Given the description of an element on the screen output the (x, y) to click on. 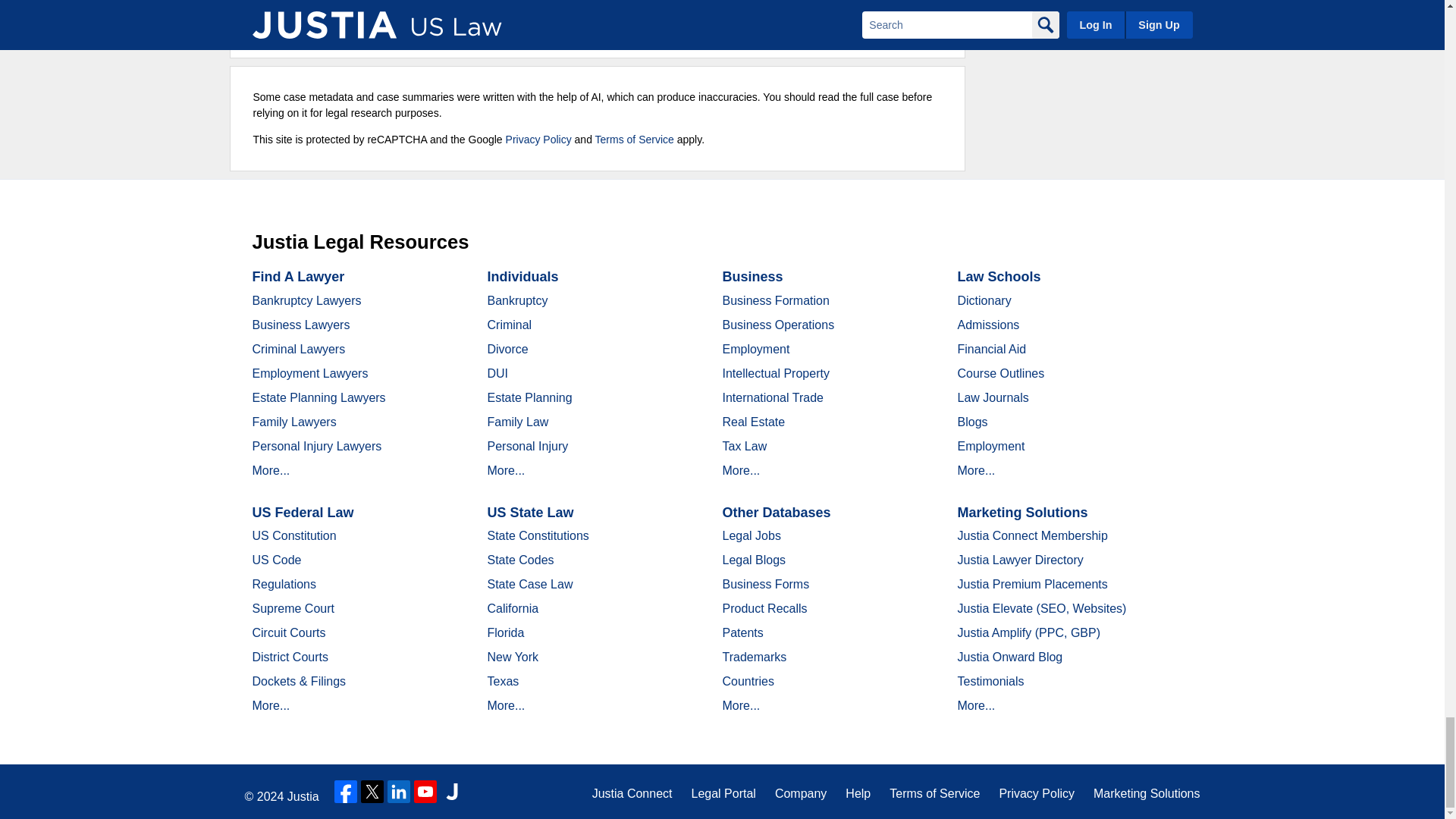
Twitter (372, 791)
Facebook (345, 791)
LinkedIn (398, 791)
